Given the description of an element on the screen output the (x, y) to click on. 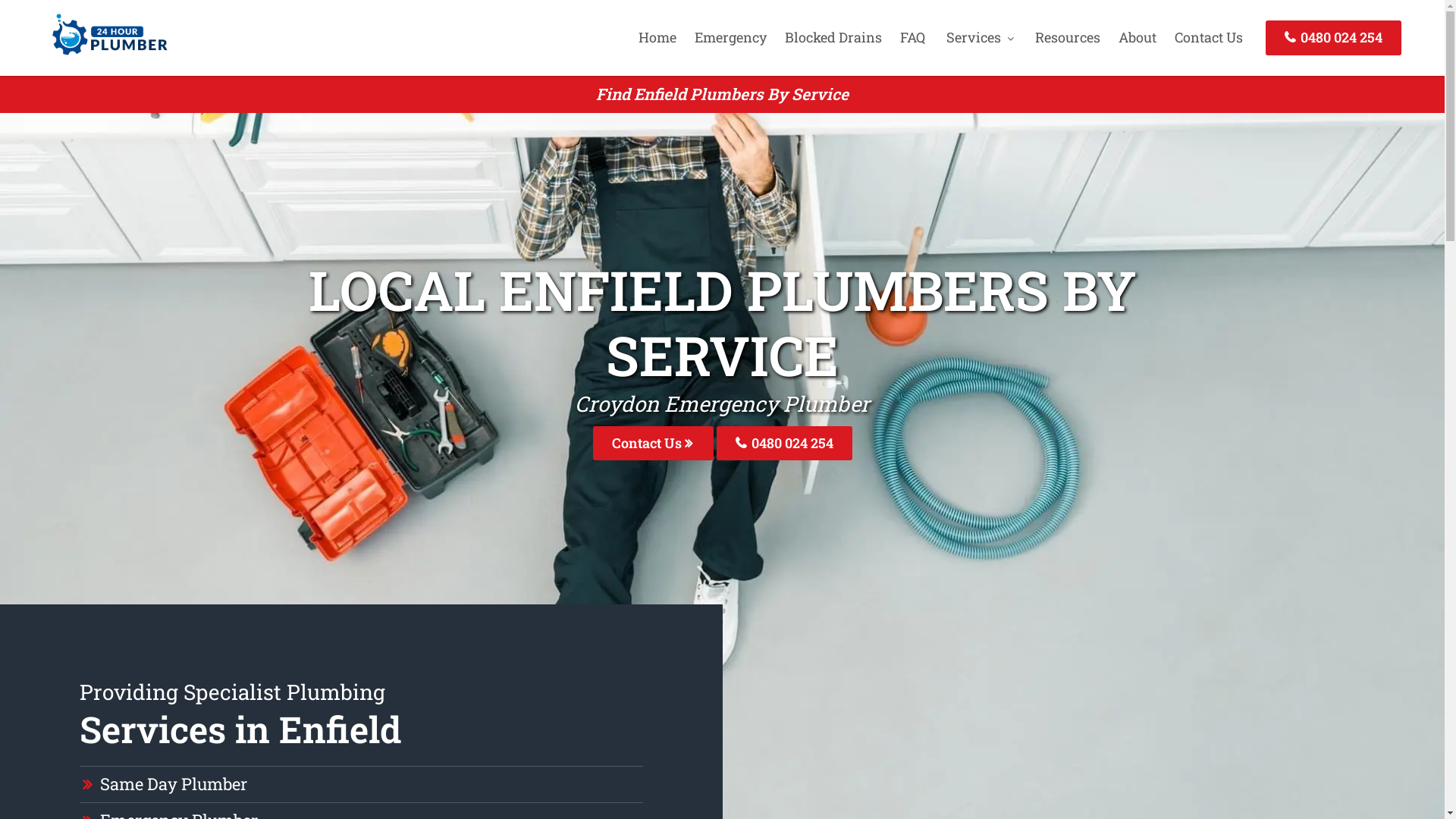
FAQ Element type: text (912, 37)
Resources Element type: text (1067, 37)
0480 024 254 Element type: text (1333, 37)
Same Day Plumber Element type: text (173, 784)
24 Hour Plumber Element type: hover (105, 56)
About Element type: text (1137, 37)
Home Element type: text (657, 37)
Contact Us Element type: text (653, 443)
0480 024 254 Element type: text (783, 443)
Emergency Element type: text (730, 37)
Services Element type: text (979, 37)
Contact Us Element type: text (1208, 37)
Blocked Drains Element type: text (833, 37)
